Given the description of an element on the screen output the (x, y) to click on. 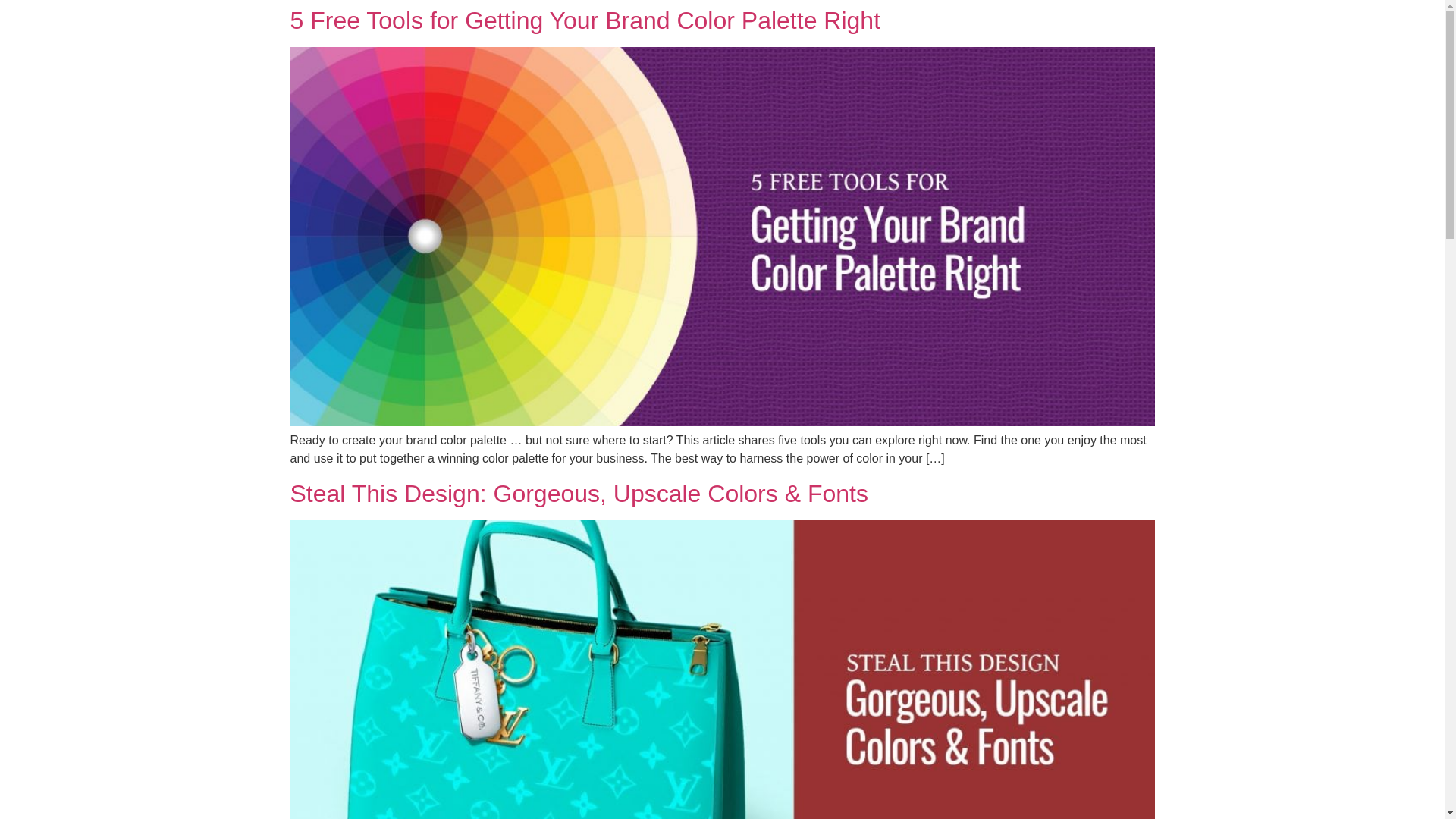
5 Free Tools for Getting Your Brand Color Palette Right (584, 20)
